Given the description of an element on the screen output the (x, y) to click on. 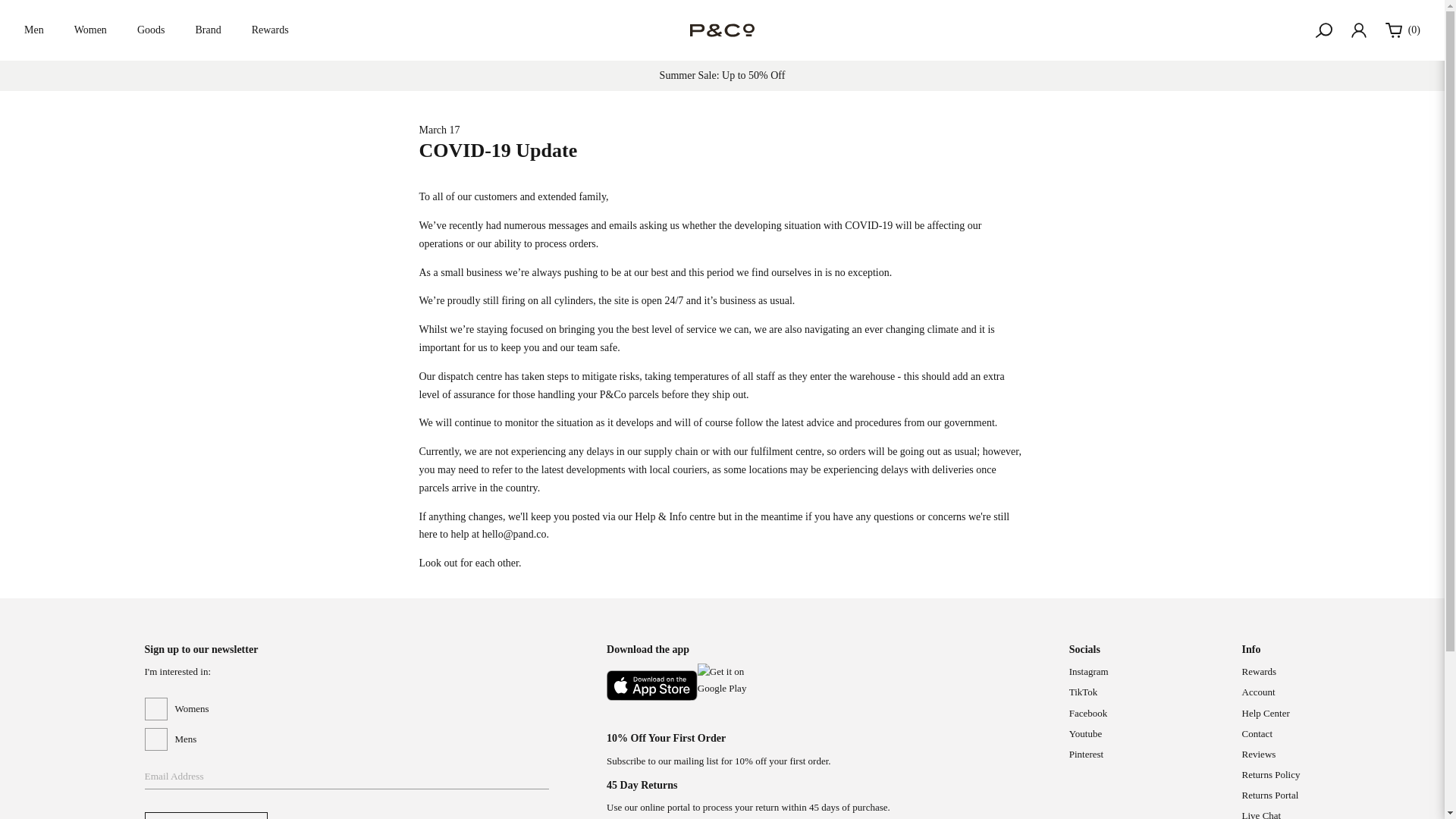
Rewards (1258, 671)
Contact (1256, 733)
Women (90, 30)
Reviews (1258, 754)
